Given the description of an element on the screen output the (x, y) to click on. 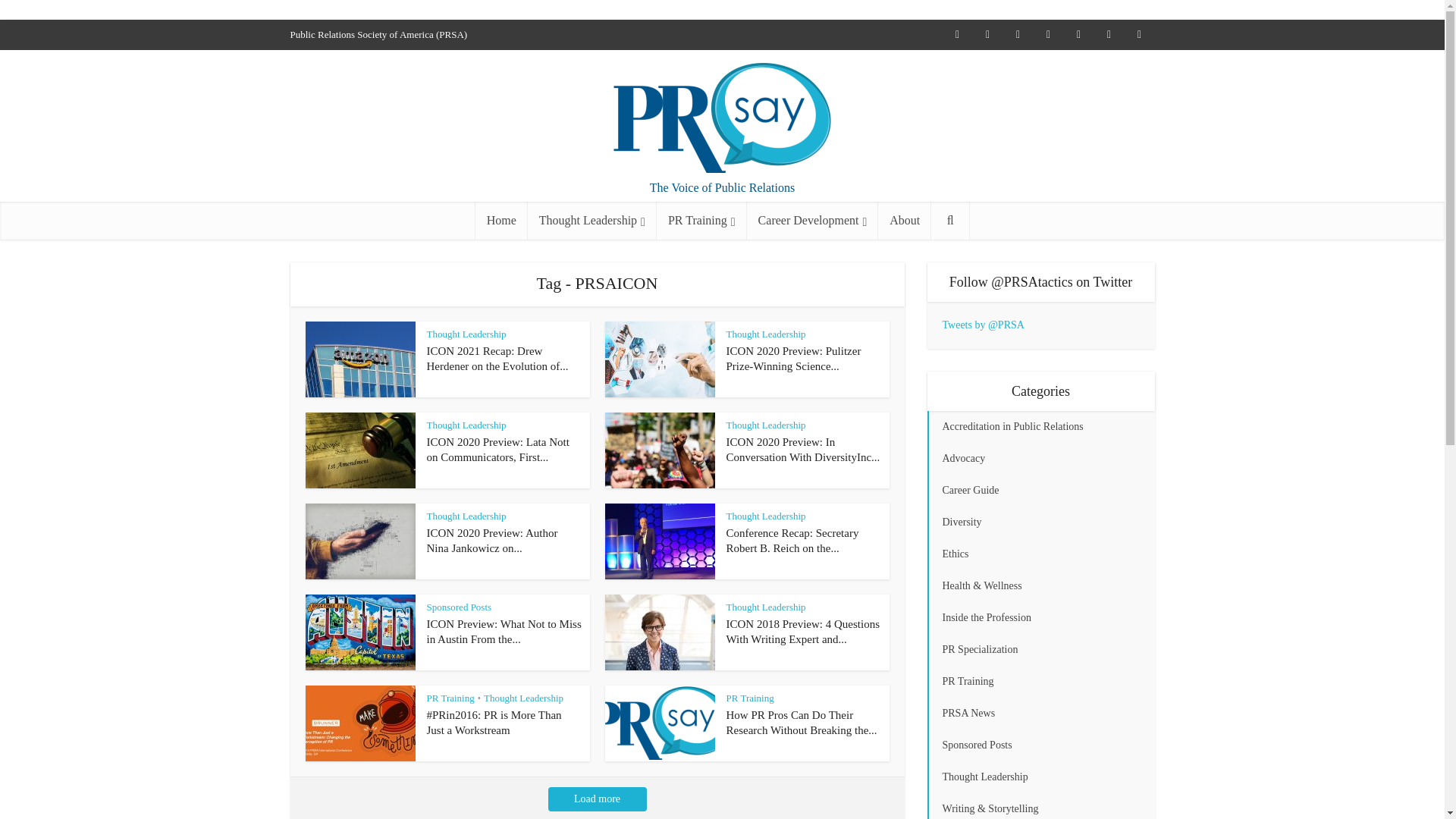
Home (501, 220)
Thought Leadership (591, 220)
Thought Leadership (766, 424)
ICON 2021 Recap: Drew Herdener on the Evolution of... (496, 358)
ICON 2020 Preview: Pulitzer Prize-Winning Science... (793, 358)
Conference Recap: Secretary Robert B. Reich on the... (792, 540)
ICON 2020 Preview: Lata Nott on Communicators, First... (497, 449)
Thought Leadership (465, 333)
Thought Leadership (465, 424)
PRsay (722, 118)
ICON 2020 Preview: In Conversation With DiversityInc... (803, 449)
Career Development (812, 220)
Thought Leadership (766, 333)
